Given the description of an element on the screen output the (x, y) to click on. 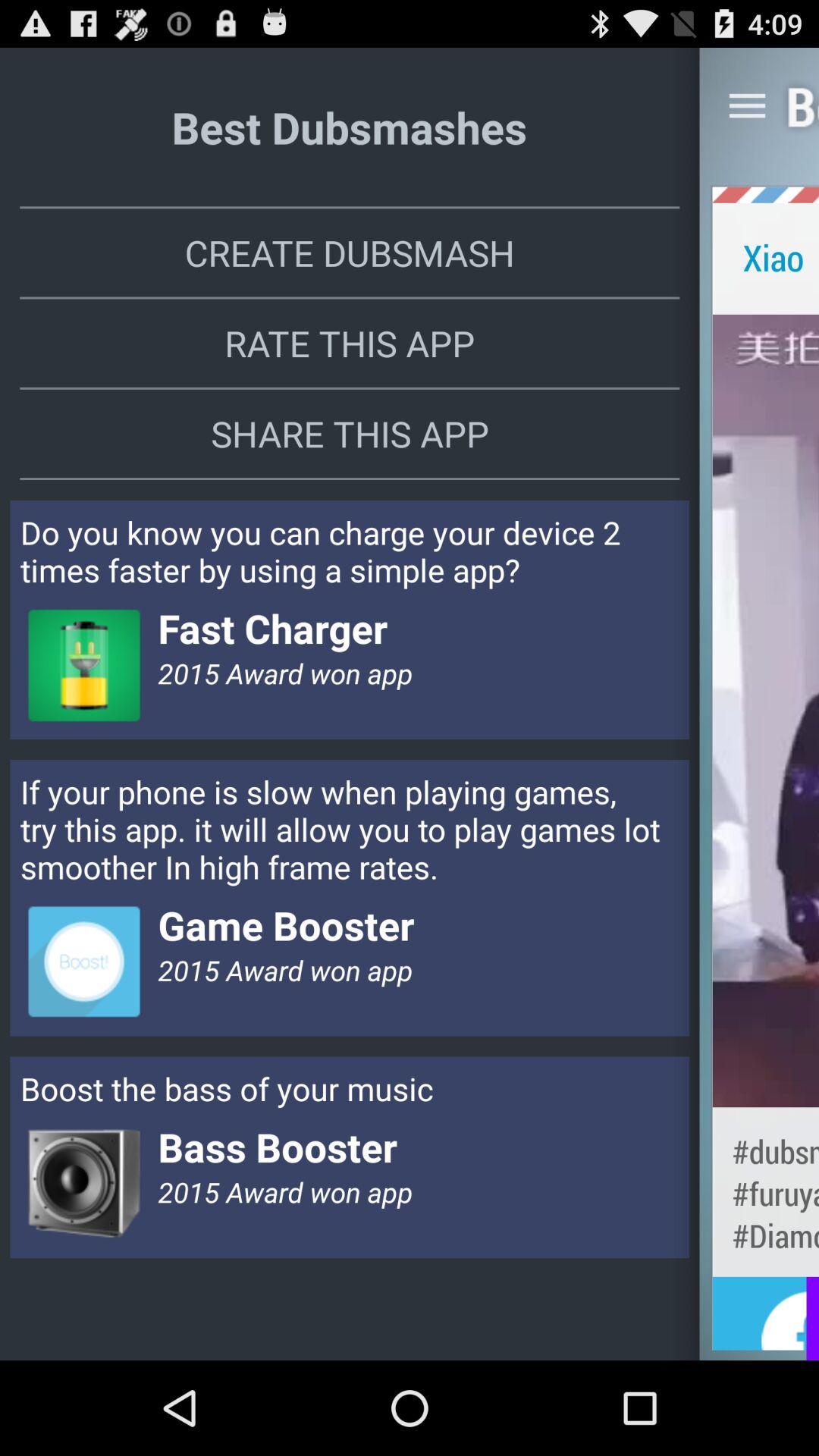
launch the item next to the rate this app app (765, 710)
